Given the description of an element on the screen output the (x, y) to click on. 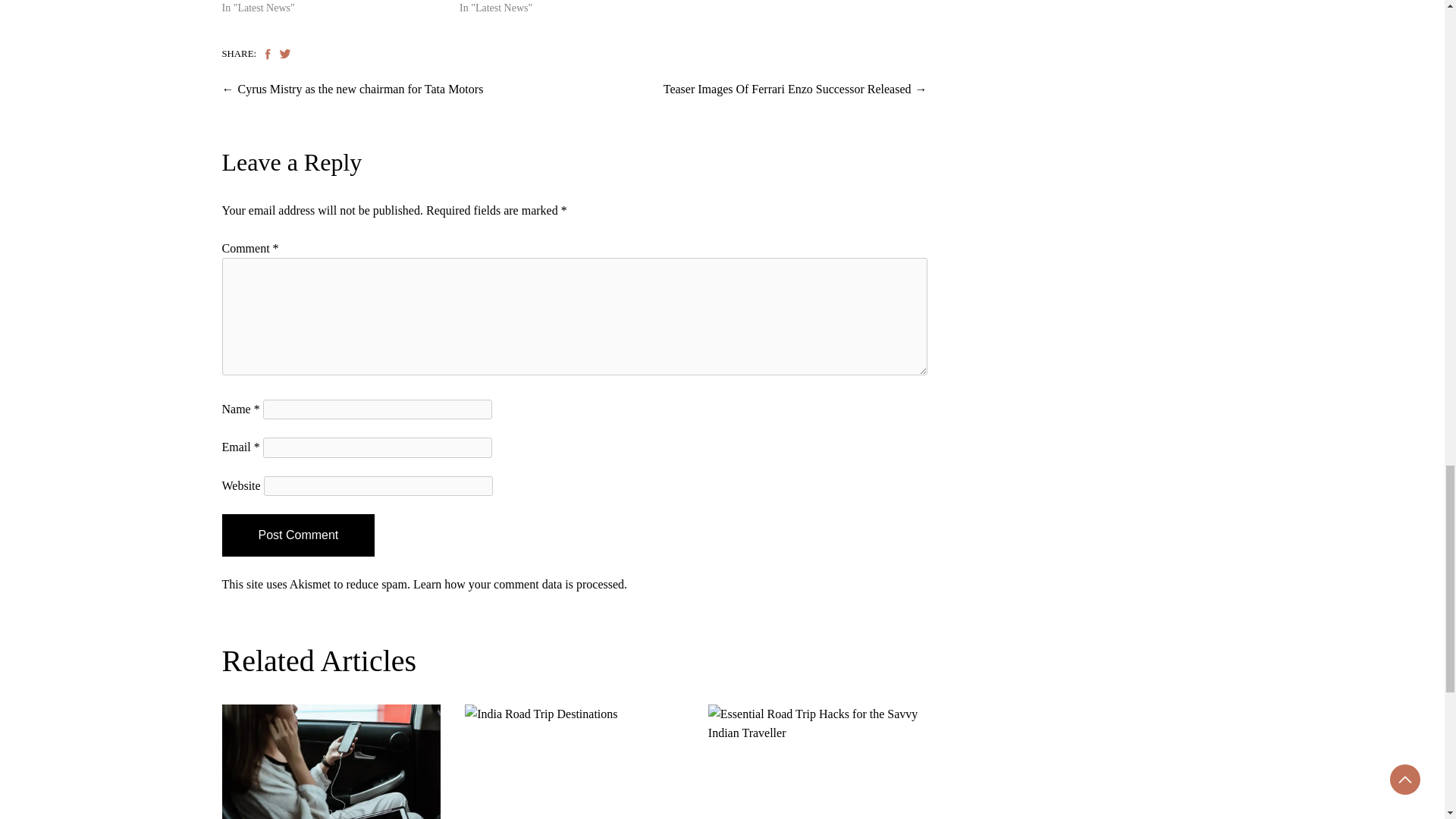
Learn how your comment data is processed (518, 584)
Post Comment (297, 535)
Cyrus Mistry as the new chairman for Tata Motors (360, 88)
Post Comment (297, 535)
Teaser Images Of Ferrari Enzo Successor Released (787, 88)
